Given the description of an element on the screen output the (x, y) to click on. 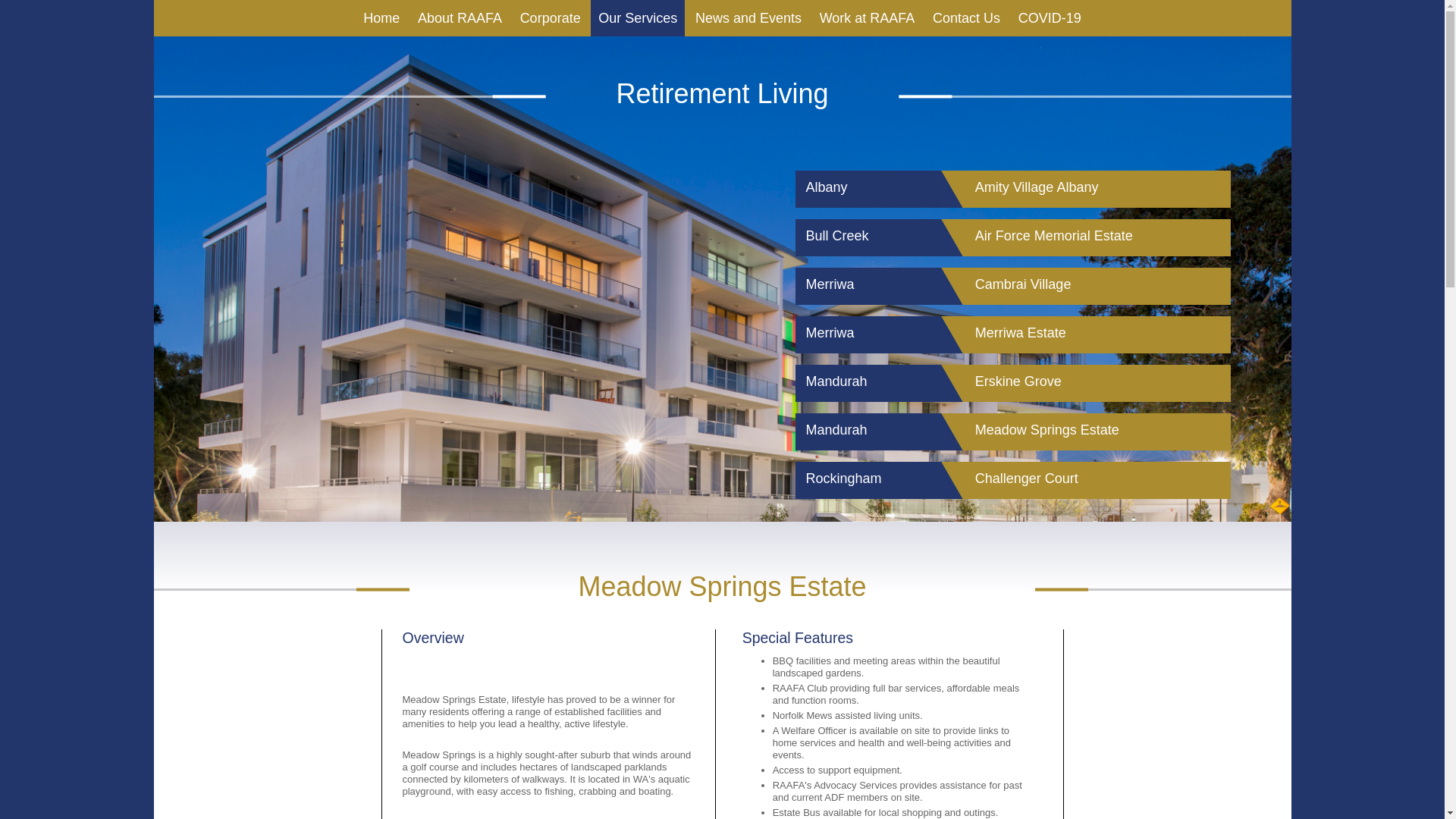
Merriwa
Merriwa Estate Element type: text (1012, 334)
Contact Us Element type: text (966, 18)
Corporate Element type: text (550, 18)
  Element type: text (548, 668)
COVID-19 Element type: text (1049, 18)
Bull Creek
Air Force Memorial Estate Element type: text (1012, 237)
About RAAFA Element type: text (459, 18)
Albany
Amity Village Albany Element type: text (1012, 188)
Work at RAAFA Element type: text (867, 18)
Home Element type: text (381, 18)
Mandurah
Meadow Springs Estate Element type: text (1012, 431)
Our Services Element type: text (637, 18)
Rockingham
Challenger Court Element type: text (1012, 479)
Mandurah
Erskine Grove Element type: text (1012, 382)
News and Events Element type: text (748, 18)
Merriwa
Cambrai Village Element type: text (1012, 285)
click to play video Element type: hover (548, 668)
